Given the description of an element on the screen output the (x, y) to click on. 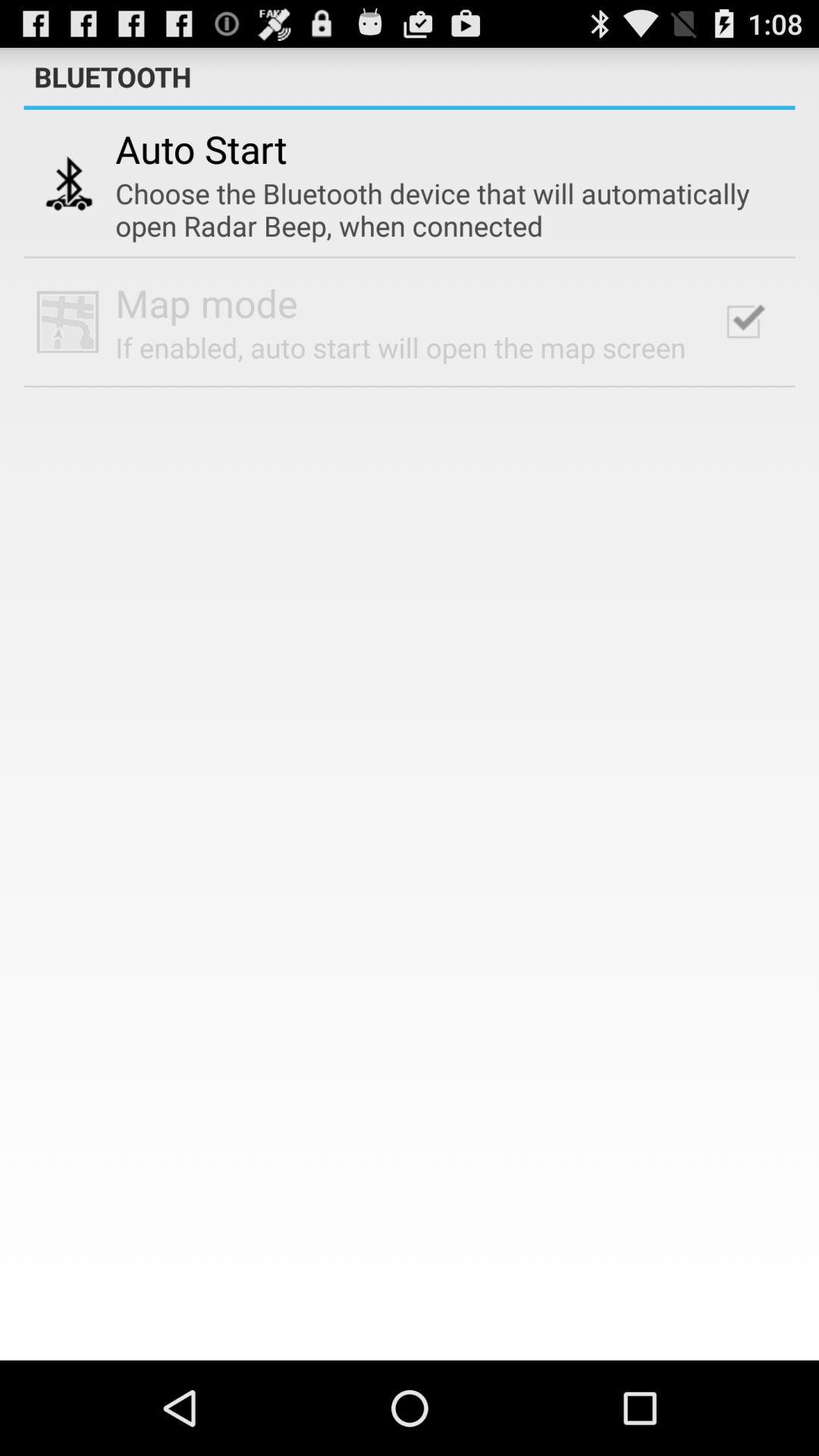
turn off icon below auto start item (439, 209)
